Given the description of an element on the screen output the (x, y) to click on. 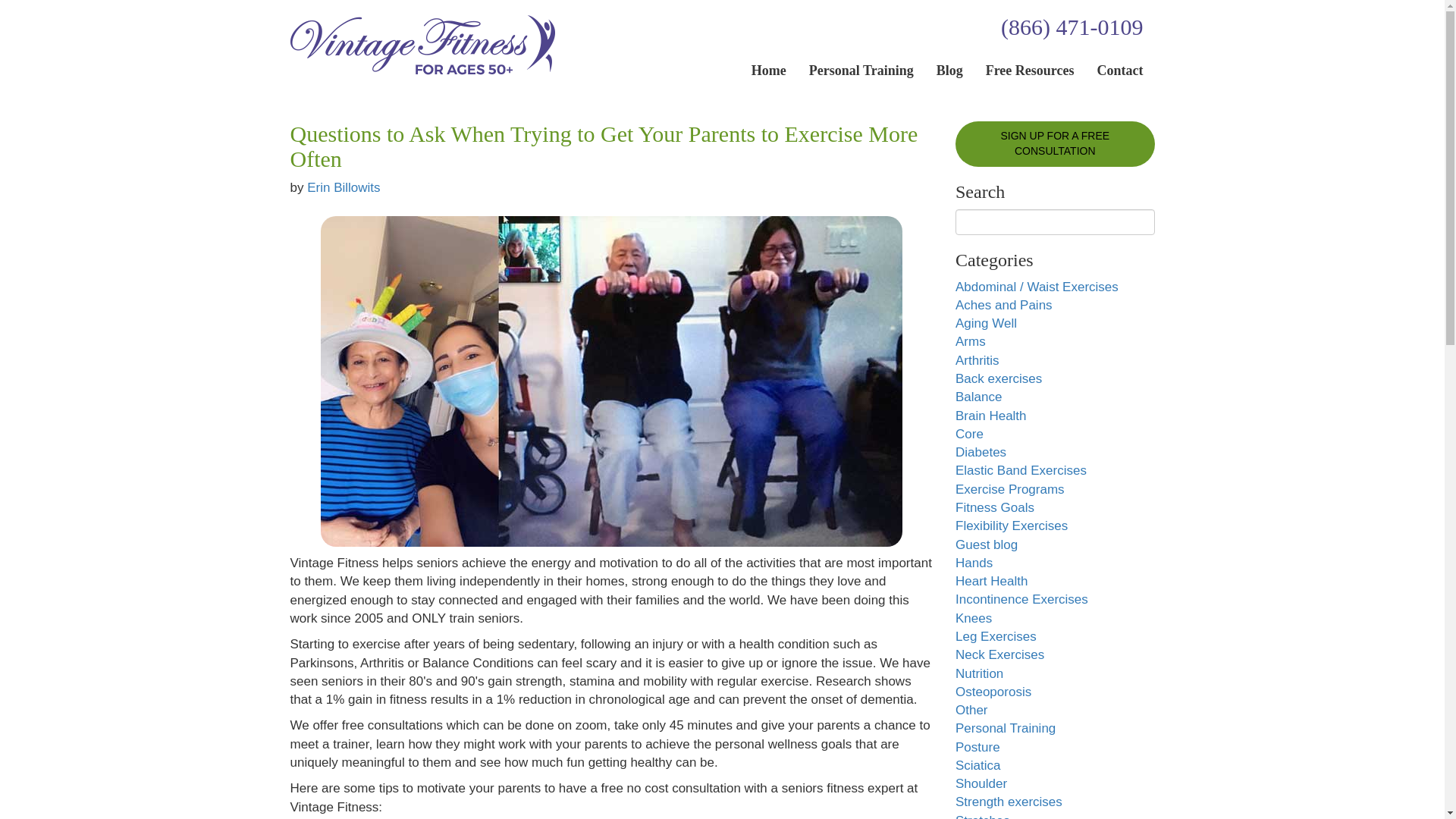
Arms (970, 341)
Blog (949, 70)
Free Resources (1029, 70)
SIGN UP FOR A FREE CONSULTATION (1054, 144)
Diabetes (980, 452)
Brain Health (990, 415)
Contact (1119, 70)
Core (969, 433)
Aging Well (985, 323)
Personal Training (861, 70)
Elastic Band Exercises (1020, 470)
Exercise Programs (1009, 489)
Balance (978, 396)
Aches and Pains (1003, 305)
Erin Billowits (343, 187)
